Given the description of an element on the screen output the (x, y) to click on. 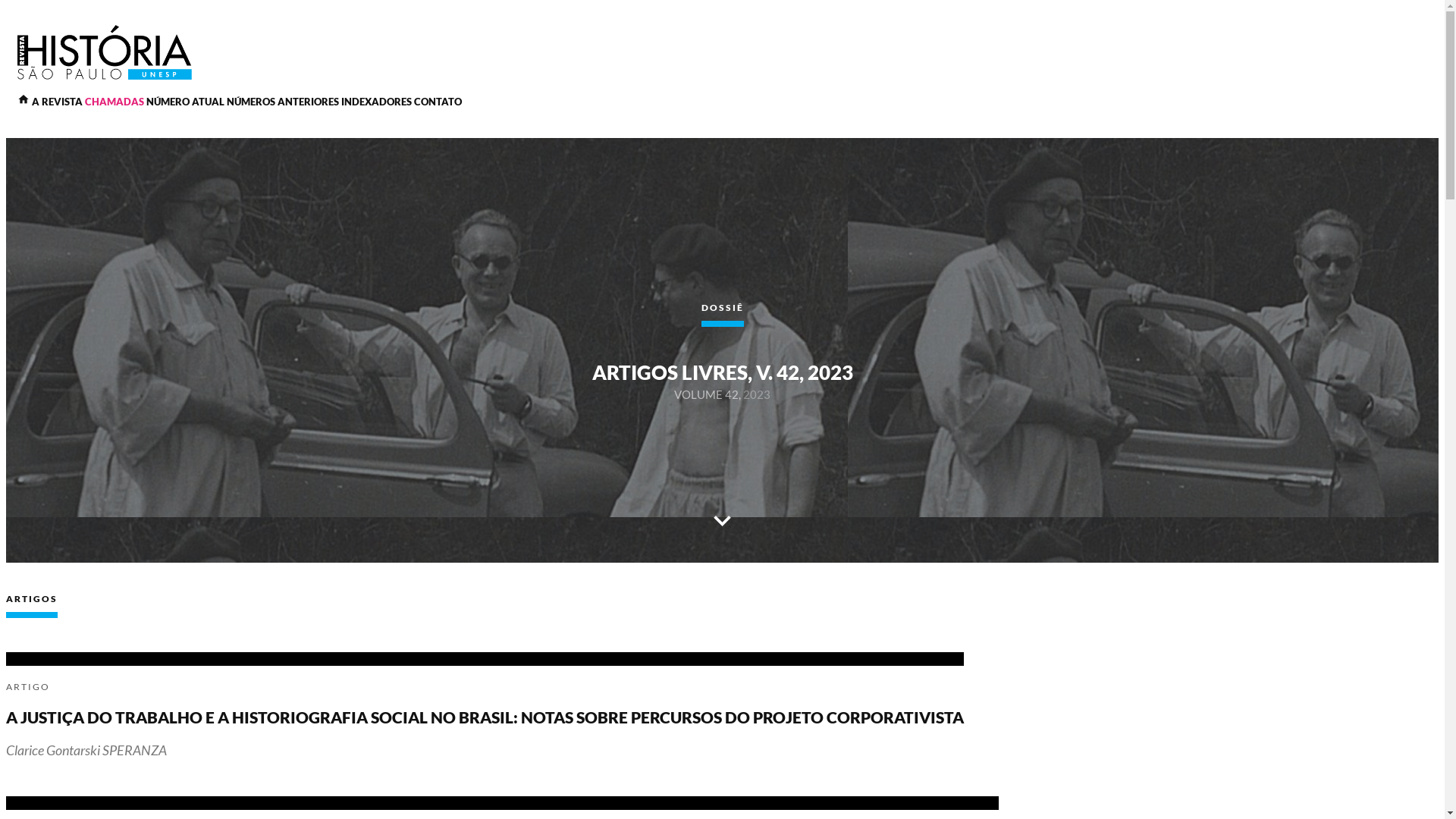
CONTATO Element type: text (437, 101)
CHAMADAS Element type: text (114, 101)
A REVISTA Element type: text (56, 101)
INDEXADORES Element type: text (376, 101)
home Element type: text (23, 101)
